Given the description of an element on the screen output the (x, y) to click on. 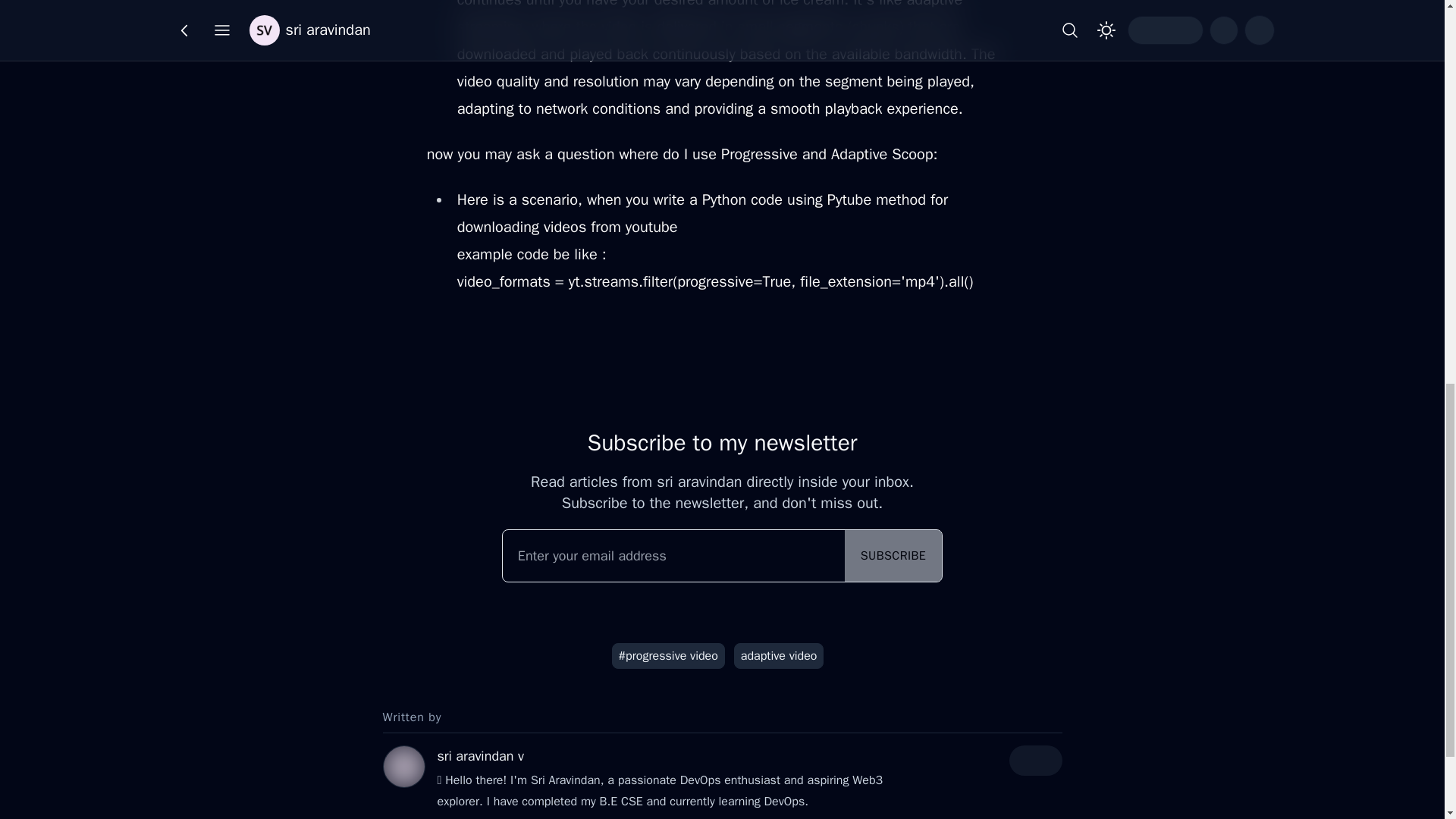
adaptive video (778, 655)
sri aravindan v (479, 755)
SUBSCRIBE (893, 555)
Add Bookmark (750, 24)
